Given the description of an element on the screen output the (x, y) to click on. 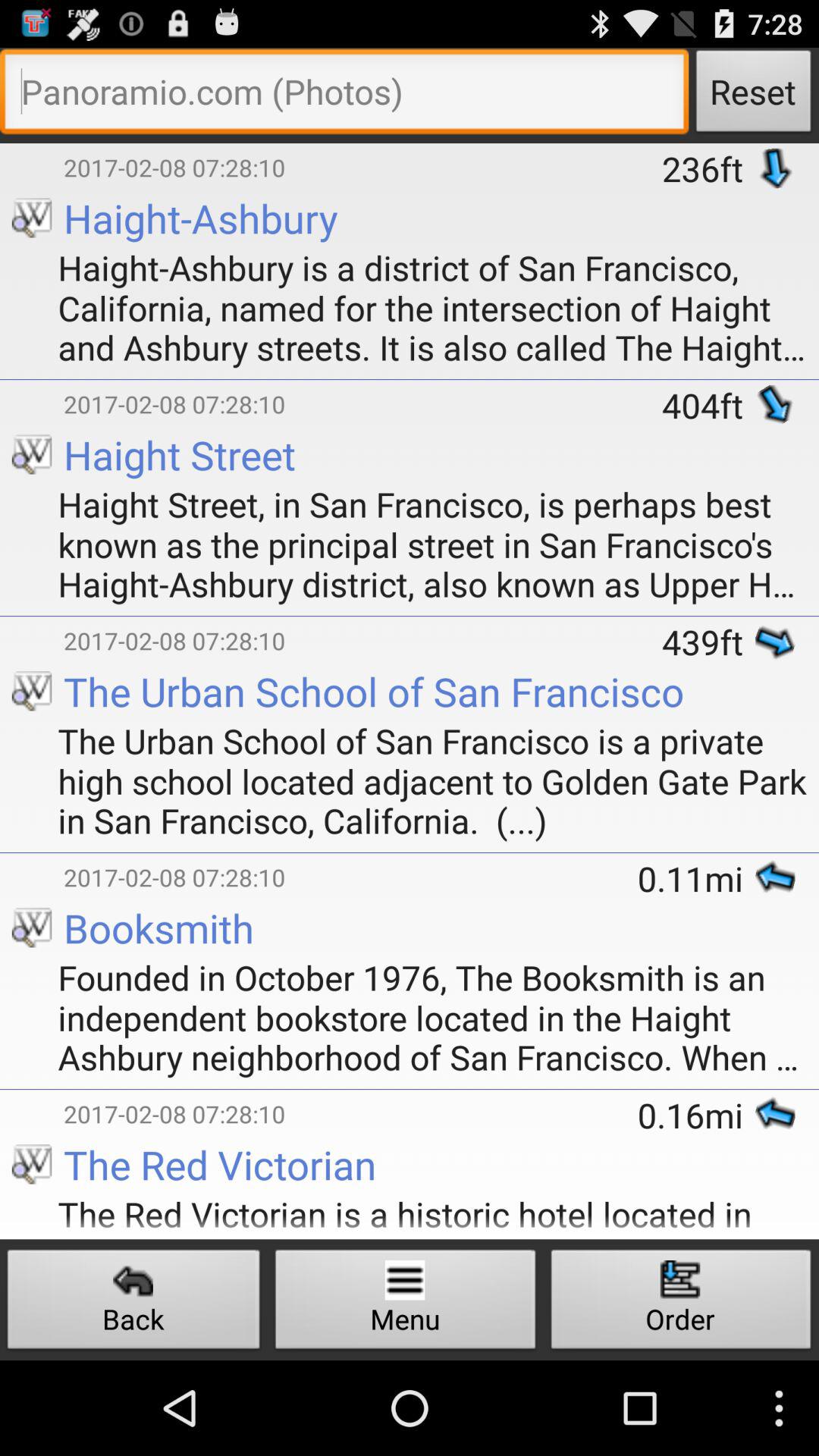
reset (344, 95)
